Given the description of an element on the screen output the (x, y) to click on. 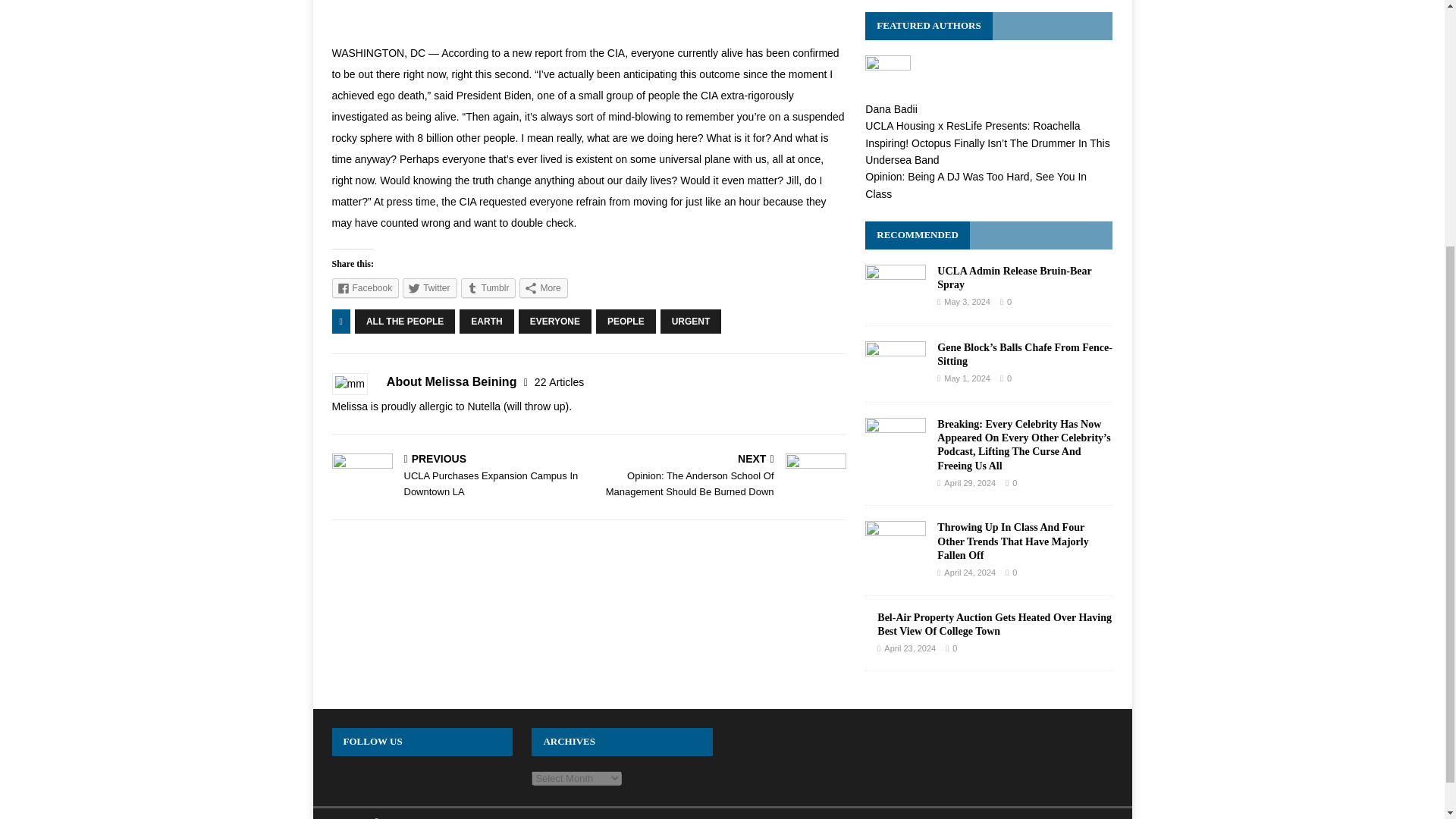
Posts by Dana Badii (890, 109)
More articles written by Melissa Beining' (558, 381)
EARTH (486, 321)
ALL THE PEOPLE (404, 321)
Tumblr (457, 476)
Click to share on Tumblr (488, 288)
Facebook (488, 288)
More (364, 288)
22 Articles (543, 288)
